Given the description of an element on the screen output the (x, y) to click on. 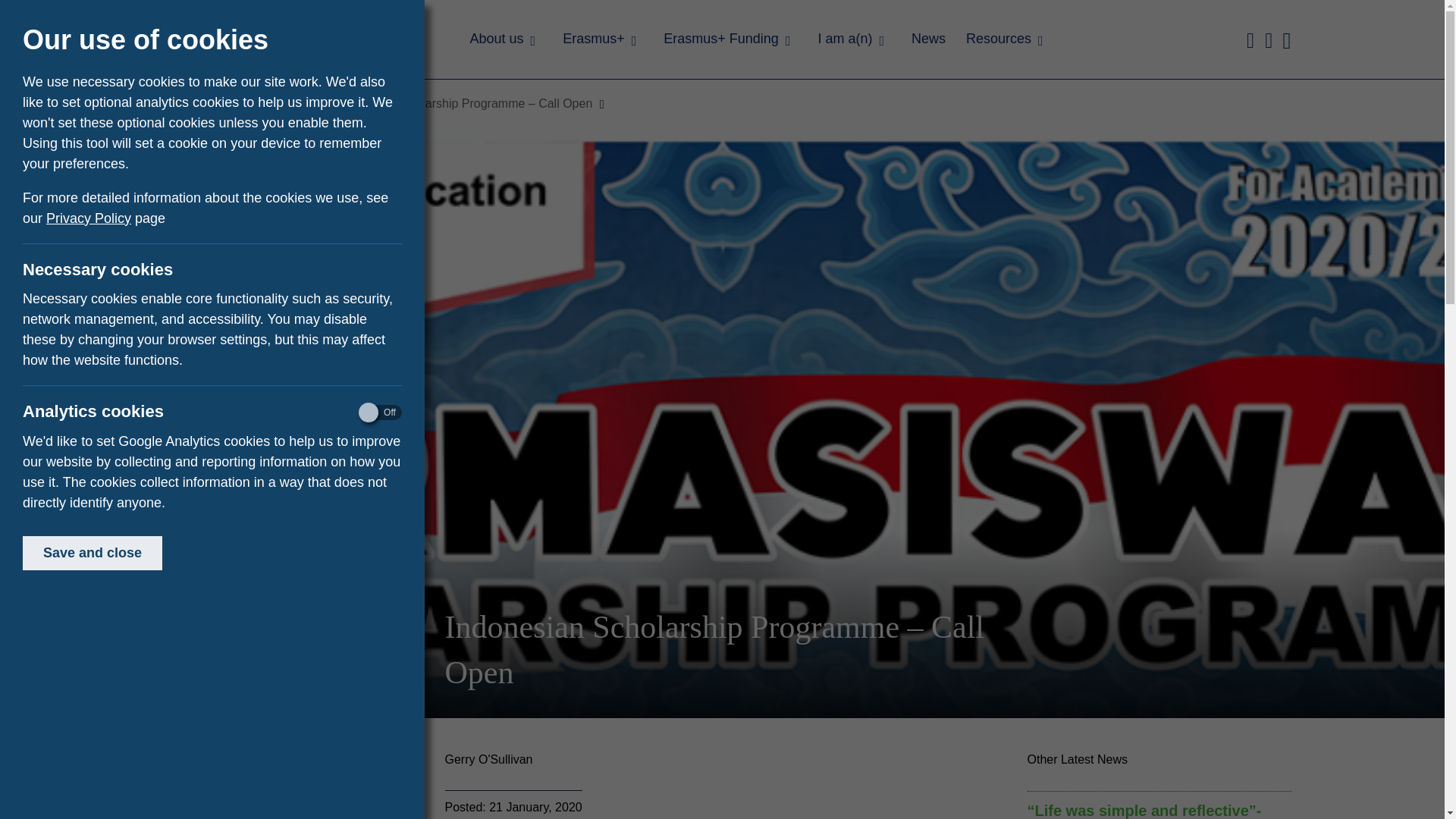
News (299, 103)
Resources (1004, 43)
About us (503, 43)
Home (250, 103)
News (925, 43)
